Given the description of an element on the screen output the (x, y) to click on. 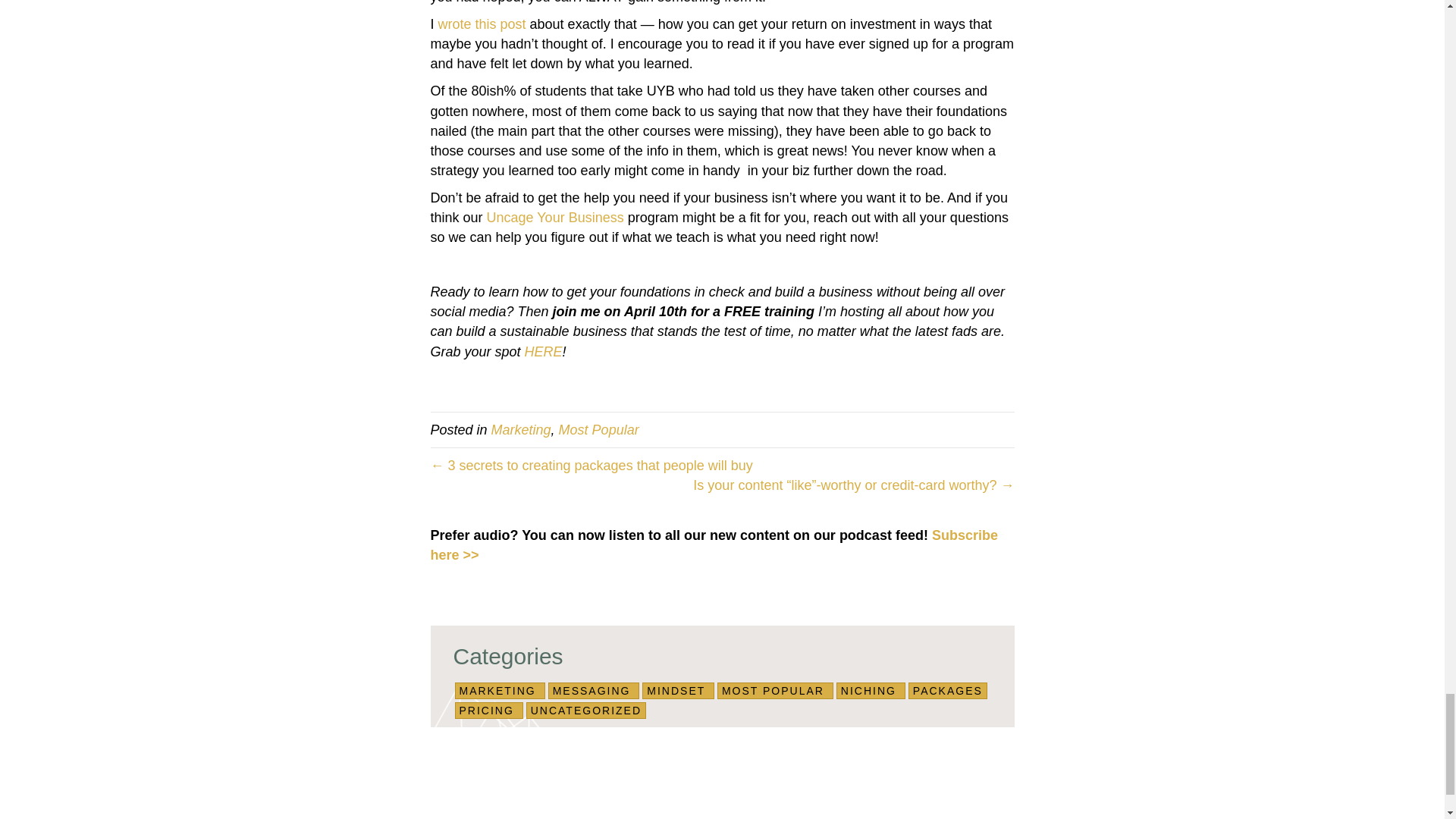
MINDSET (675, 690)
MESSAGING (591, 690)
Most Popular (599, 429)
MARKETING (497, 690)
MOST POPULAR (773, 690)
Uncage Your Business (555, 217)
PACKAGES (947, 690)
UNCATEGORIZED (586, 710)
Marketing (521, 429)
wrote this post (481, 23)
NICHING (868, 690)
PRICING (486, 710)
HERE (543, 351)
